Given the description of an element on the screen output the (x, y) to click on. 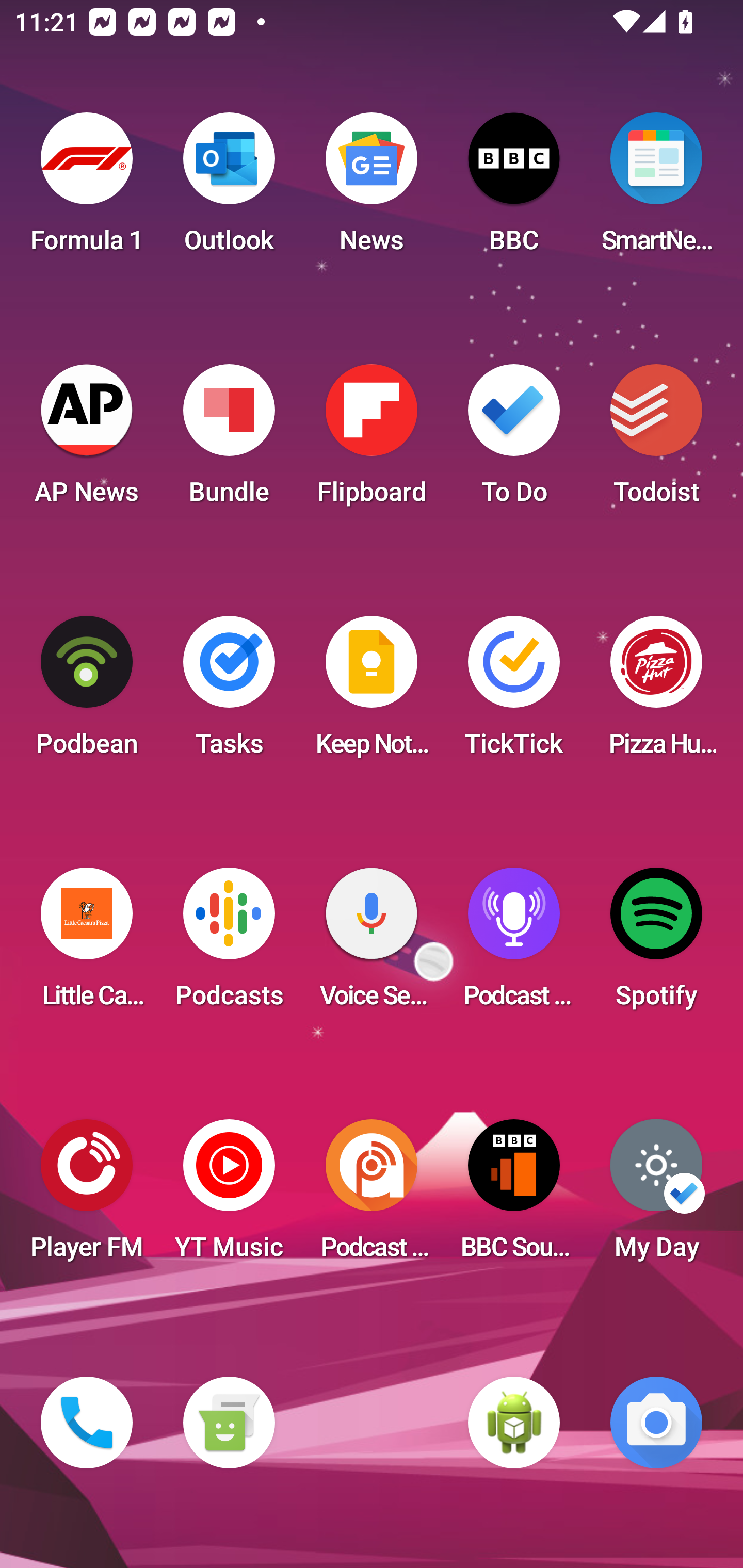
Formula 1 (86, 188)
Outlook (228, 188)
News (371, 188)
BBC (513, 188)
SmartNews (656, 188)
AP News (86, 440)
Bundle (228, 440)
Flipboard (371, 440)
To Do (513, 440)
Todoist (656, 440)
Podbean (86, 692)
Tasks (228, 692)
Keep Notes (371, 692)
TickTick (513, 692)
Pizza Hut HK & Macau (656, 692)
Little Caesars Pizza (86, 943)
Podcasts (228, 943)
Voice Search (371, 943)
Podcast Player (513, 943)
Spotify (656, 943)
Player FM (86, 1195)
YT Music (228, 1195)
Podcast Addict (371, 1195)
BBC Sounds (513, 1195)
My Day (656, 1195)
Phone (86, 1422)
Messaging (228, 1422)
WebView Browser Tester (513, 1422)
Camera (656, 1422)
